Given the description of an element on the screen output the (x, y) to click on. 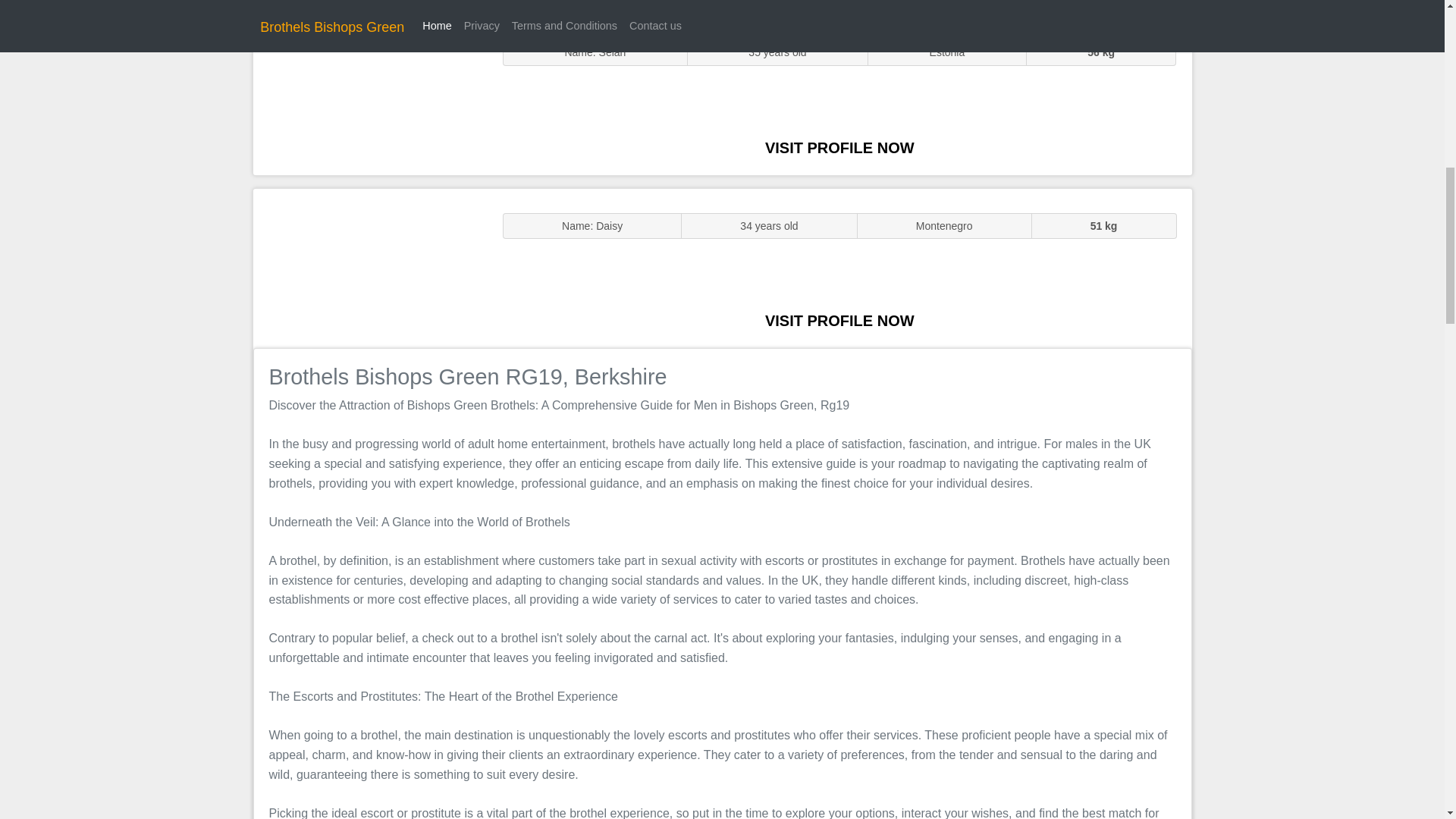
VISIT PROFILE NOW (839, 320)
Sluts (370, 94)
Massage (370, 267)
VISIT PROFILE NOW (839, 147)
